Given the description of an element on the screen output the (x, y) to click on. 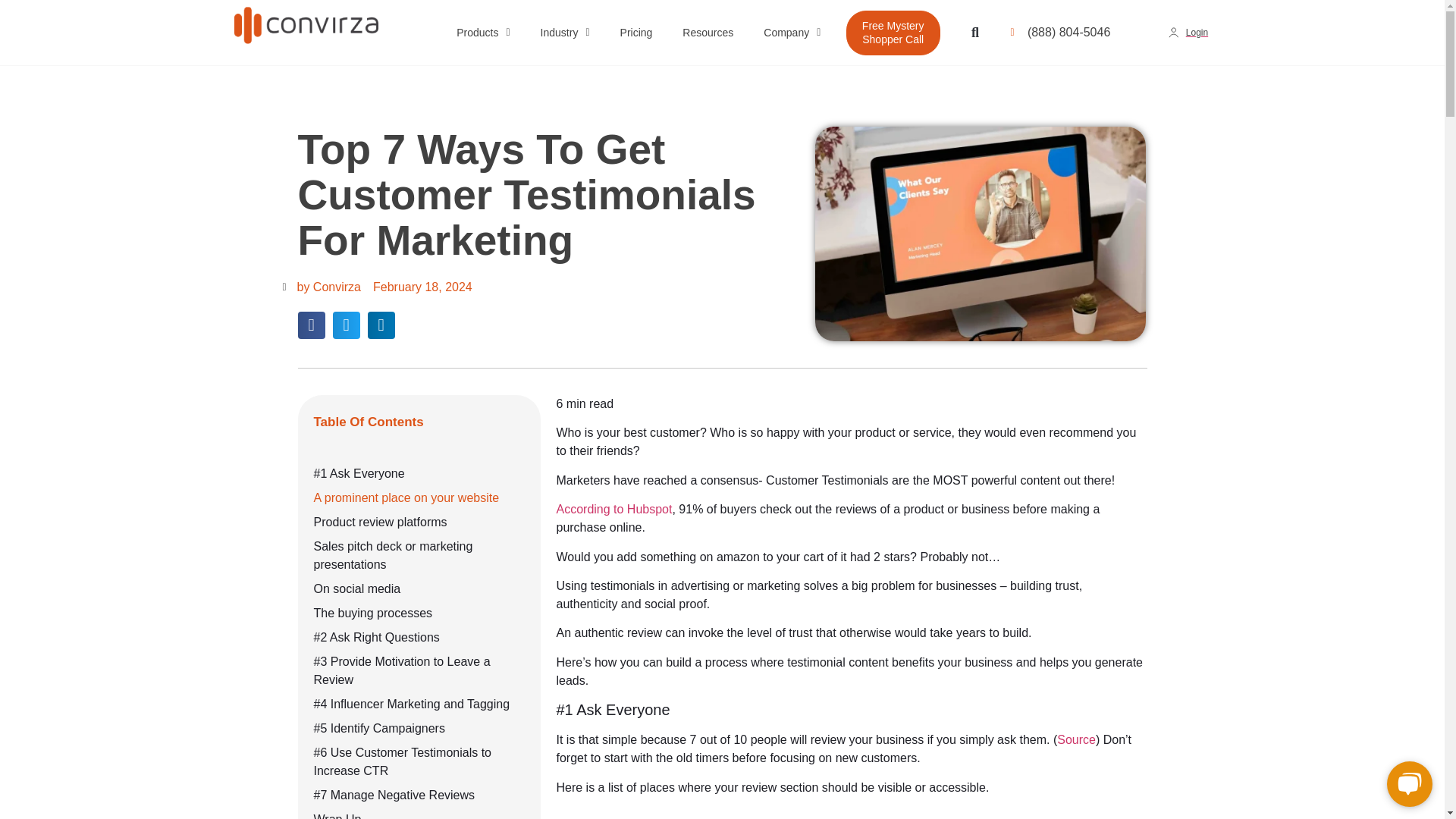
Industry (565, 32)
Company (791, 32)
Pricing (636, 32)
Resources (707, 32)
Products (482, 32)
Customer Testimonials for marketing (980, 233)
